Given the description of an element on the screen output the (x, y) to click on. 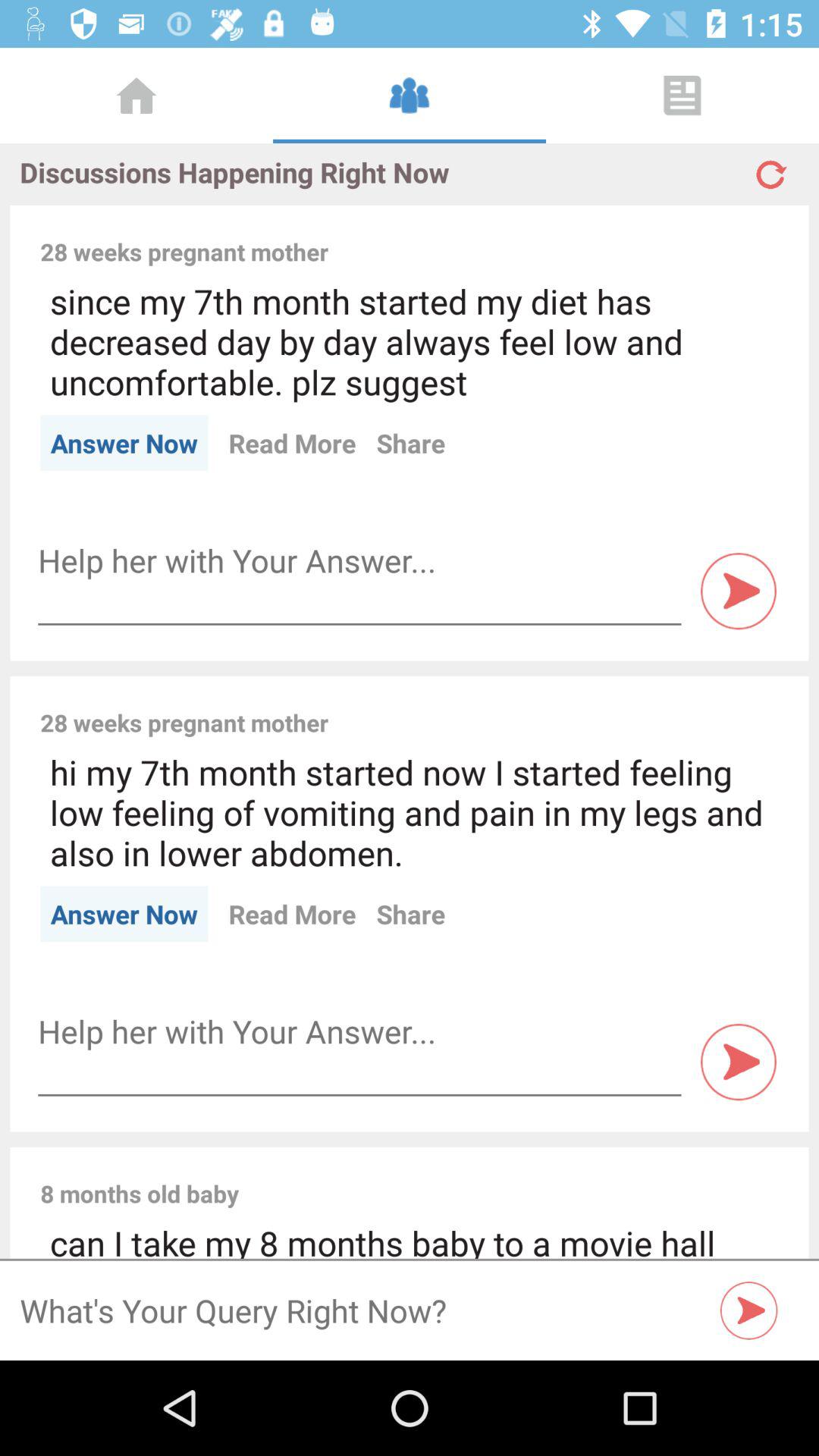
launch the item above the can i take (518, 1176)
